Given the description of an element on the screen output the (x, y) to click on. 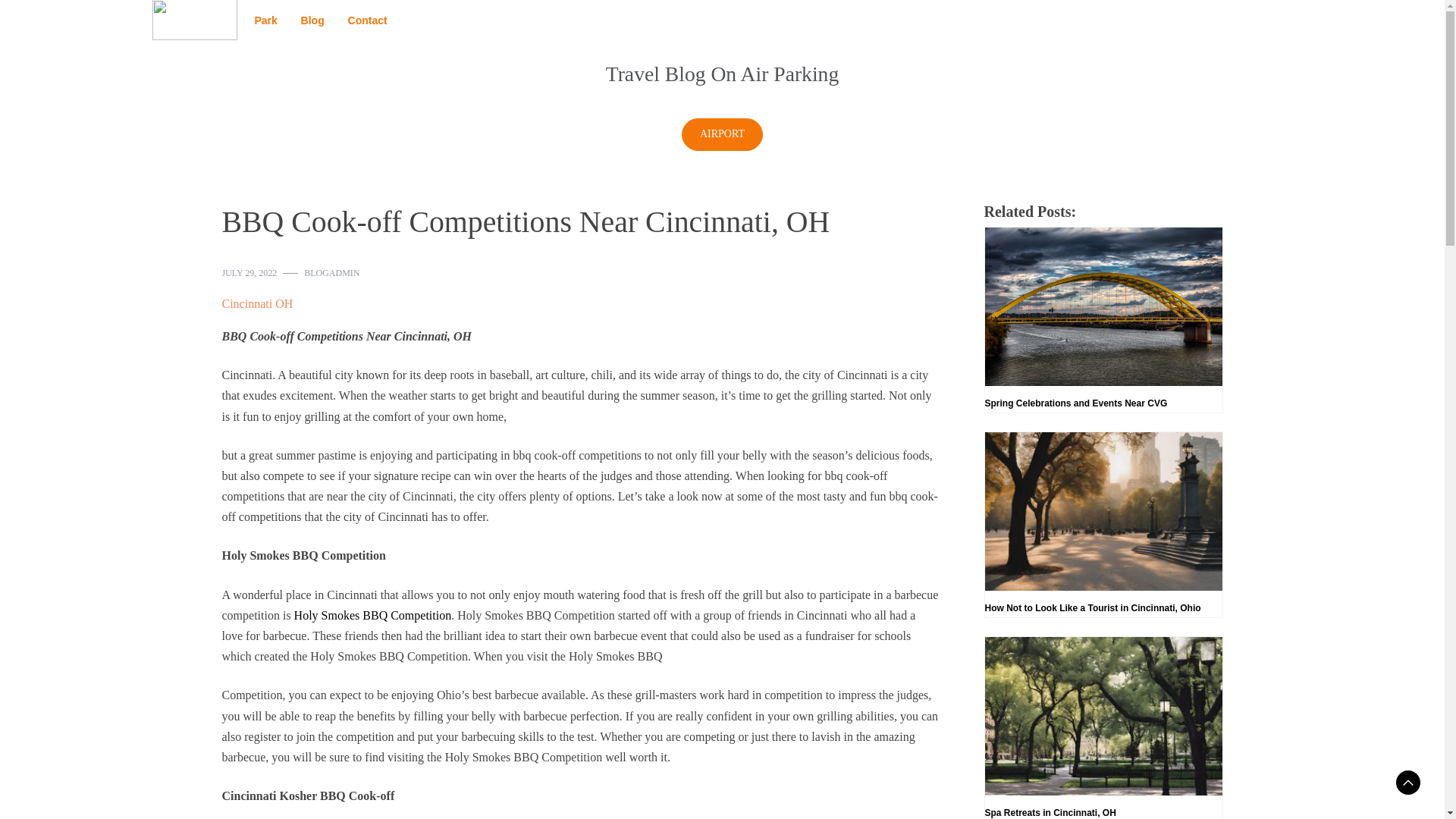
Spa Retreats in Cincinnati, OH (1103, 727)
BLOGADMIN (331, 272)
Contact (367, 20)
How Not to Look Like a Tourist in Cincinnati, Ohio (1103, 524)
How Not to Look Like a Tourist in Cincinnati, Ohio (1103, 524)
Blog (312, 20)
Cincinnati OH (256, 303)
Spring Celebrations and Events Near CVG (1103, 319)
Spa Retreats in Cincinnati, OH (1103, 727)
Spring Celebrations and Events Near CVG (1103, 319)
